Given the description of an element on the screen output the (x, y) to click on. 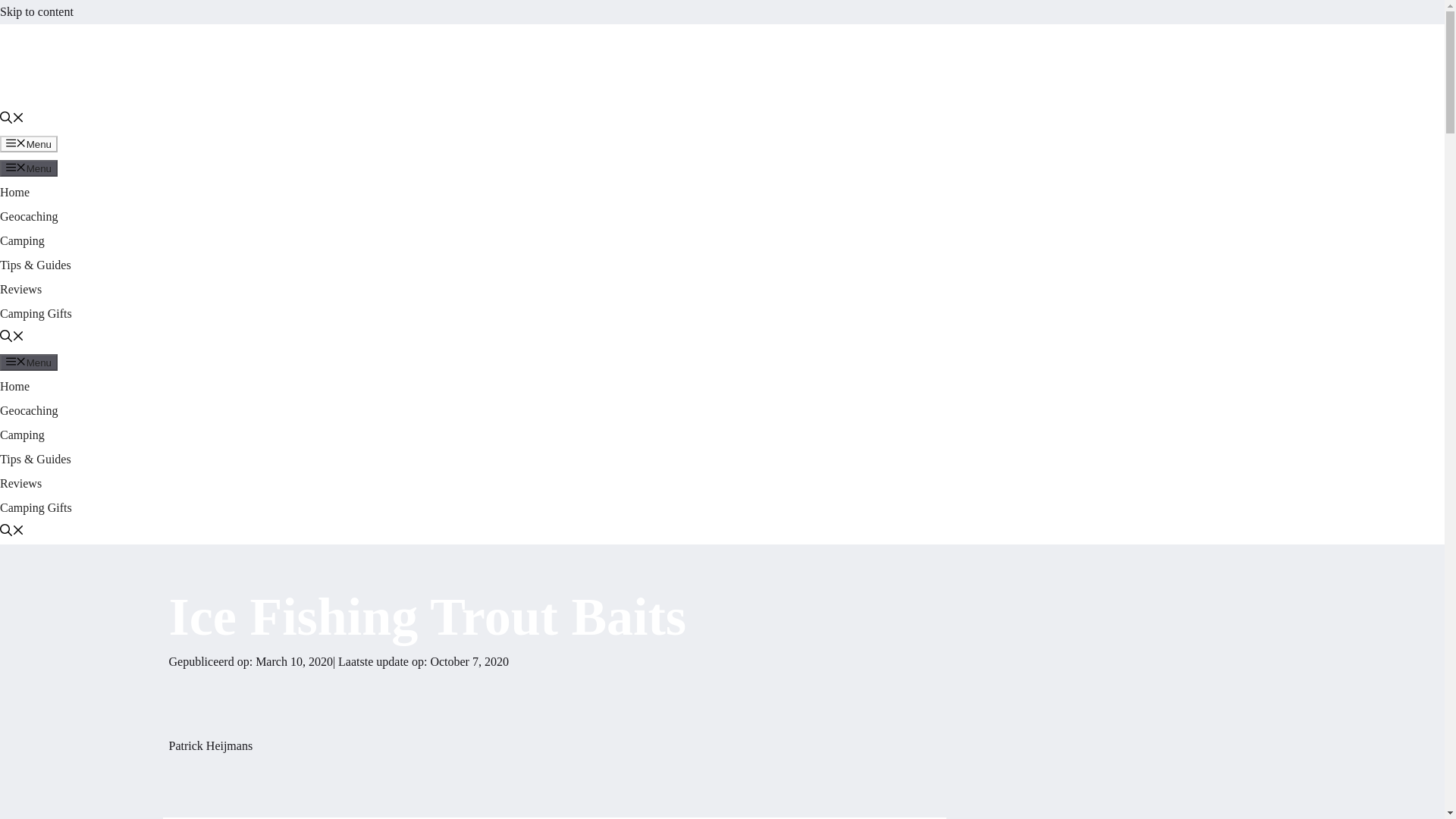
Camping Gifts (35, 507)
Geocaching (29, 410)
Camping (22, 240)
Skip to content (37, 11)
Menu (29, 362)
Home (14, 192)
Reviews (21, 482)
Skip to content (37, 11)
Camping (22, 434)
Menu (29, 167)
Reviews (21, 288)
Camping Gifts (35, 313)
Geocaching (29, 215)
Patrick Heijmans (209, 745)
Menu (29, 143)
